Given the description of an element on the screen output the (x, y) to click on. 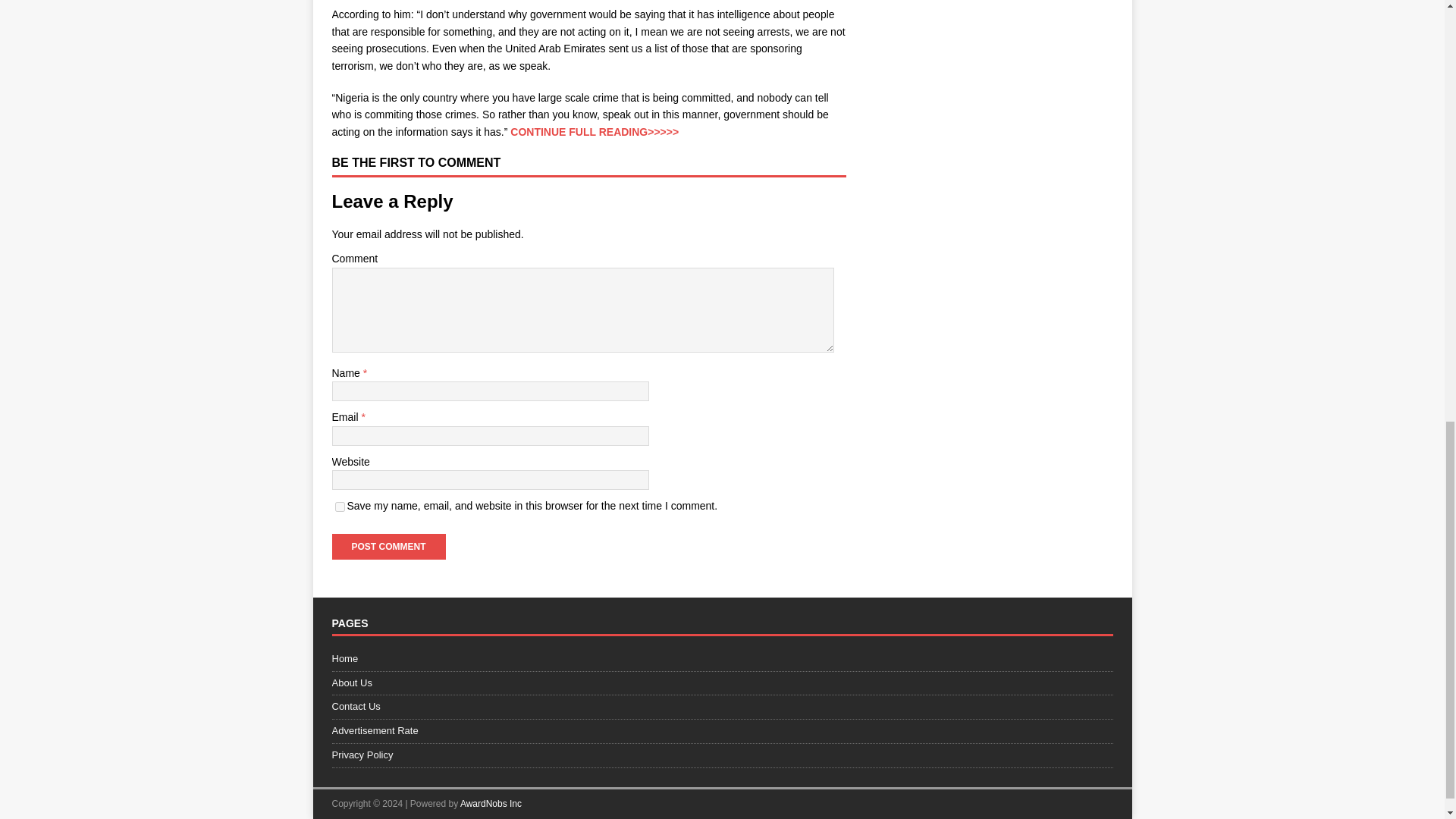
Post Comment (388, 546)
About Us (722, 683)
AwardNobs Inc (490, 803)
Contact Us (722, 707)
yes (339, 506)
Post Comment (388, 546)
Advertisement Rate (722, 730)
Privacy Policy (722, 755)
Home (722, 660)
